Given the description of an element on the screen output the (x, y) to click on. 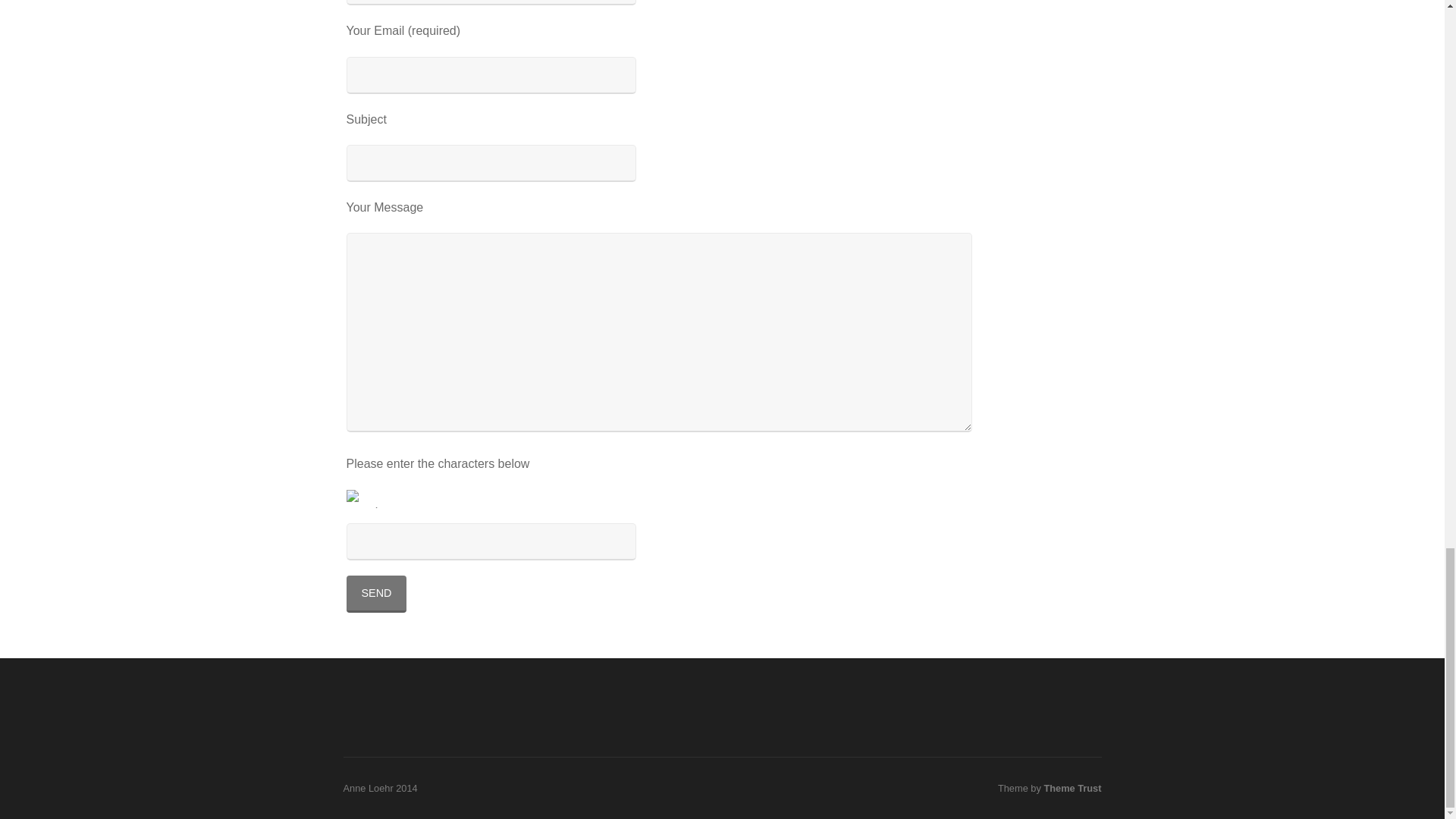
Premium WordPress Themes (1071, 787)
Send (376, 593)
Send (376, 593)
Theme Trust (1071, 787)
